Given the description of an element on the screen output the (x, y) to click on. 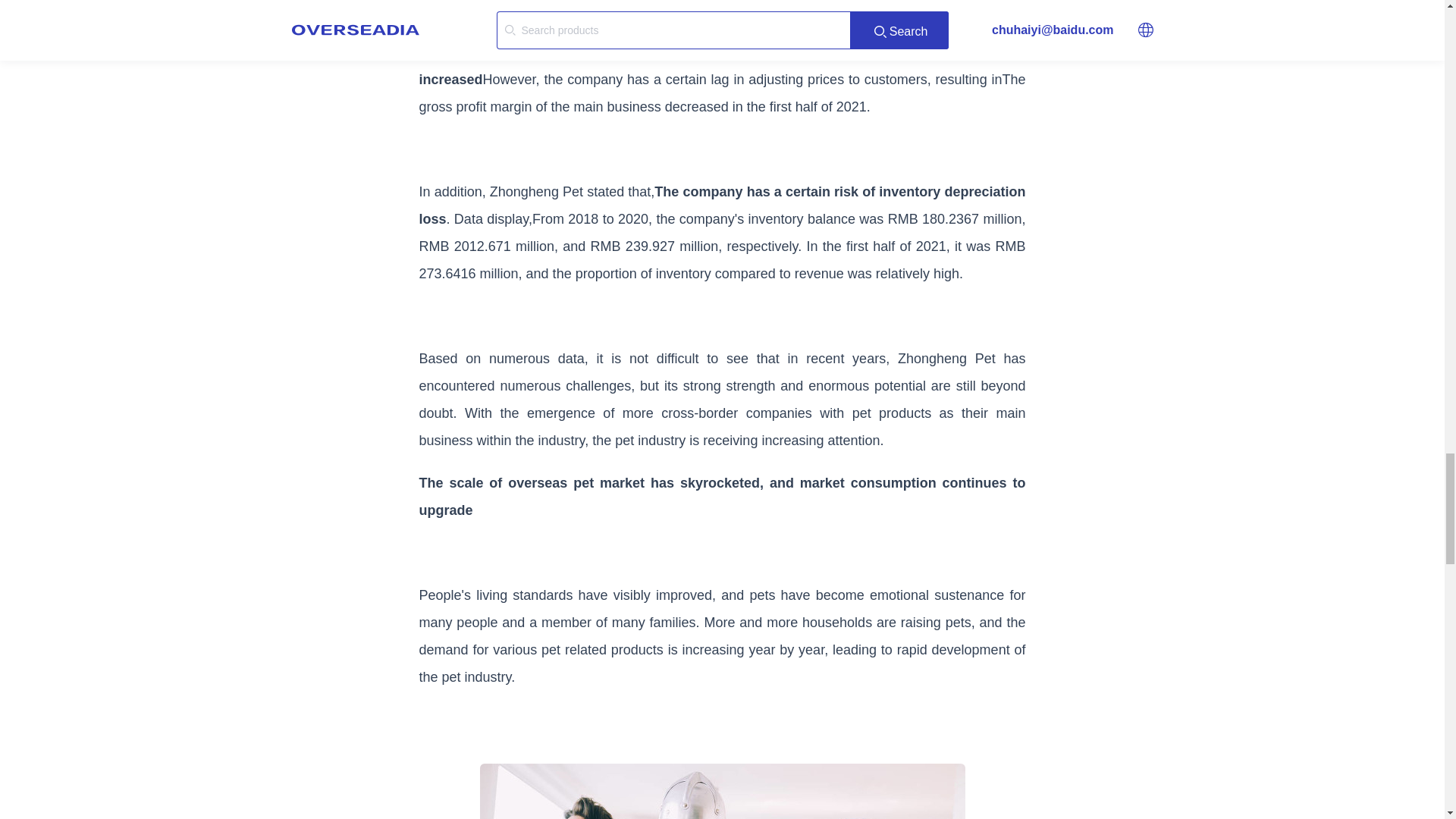
1641439296687488.jpg (721, 791)
